Given the description of an element on the screen output the (x, y) to click on. 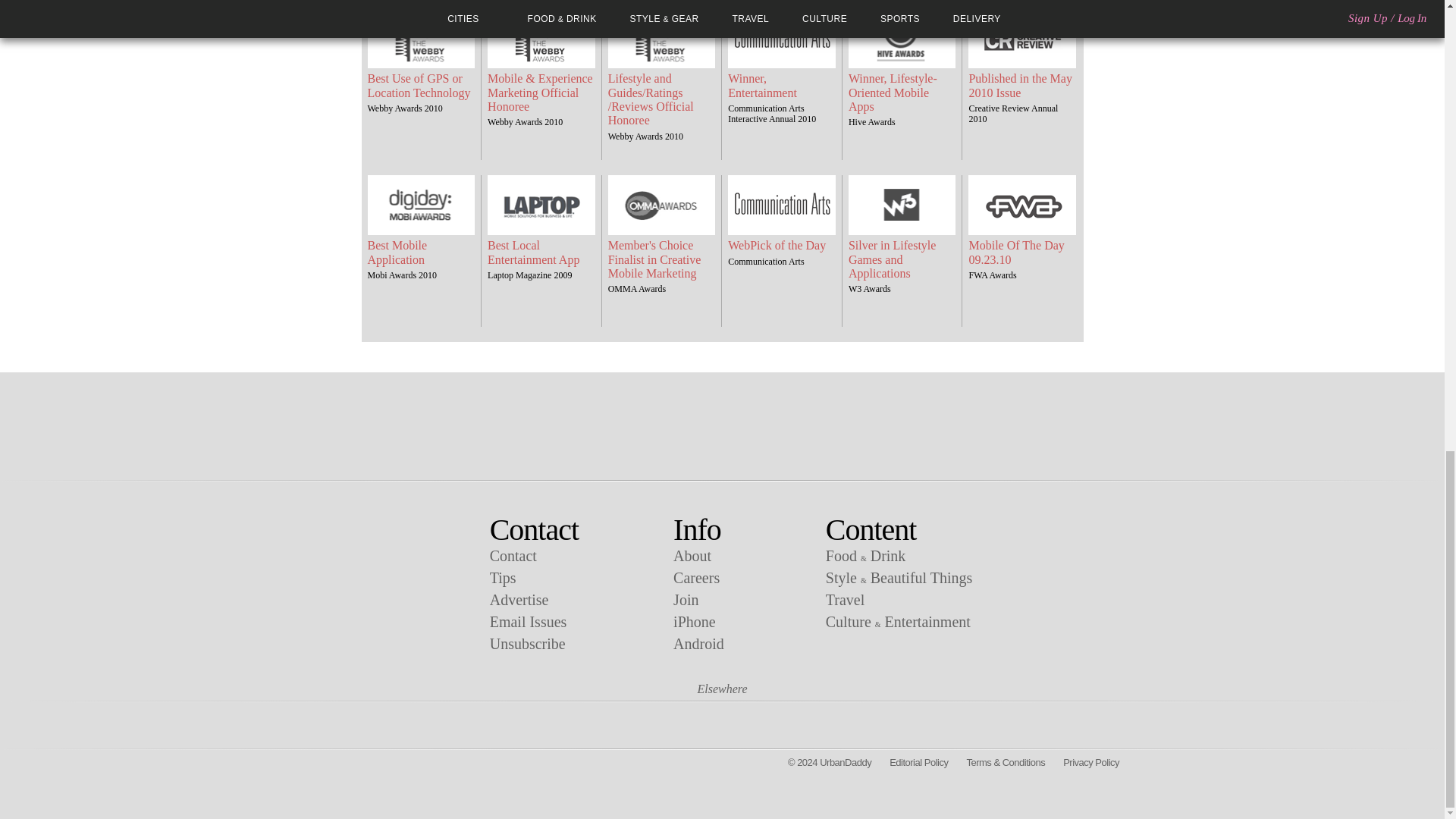
Best Use of GPS or Location Technology (420, 85)
Published in the May 2010 Issue (1022, 85)
Member's Choice Finalist in Creative Mobile Marketing (662, 259)
Winner, Lifestyle-Oriented Mobile Apps (902, 92)
Winner, Entertainment (781, 85)
Best Local Entertainment App (541, 252)
Best Mobile Application (420, 252)
